Given the description of an element on the screen output the (x, y) to click on. 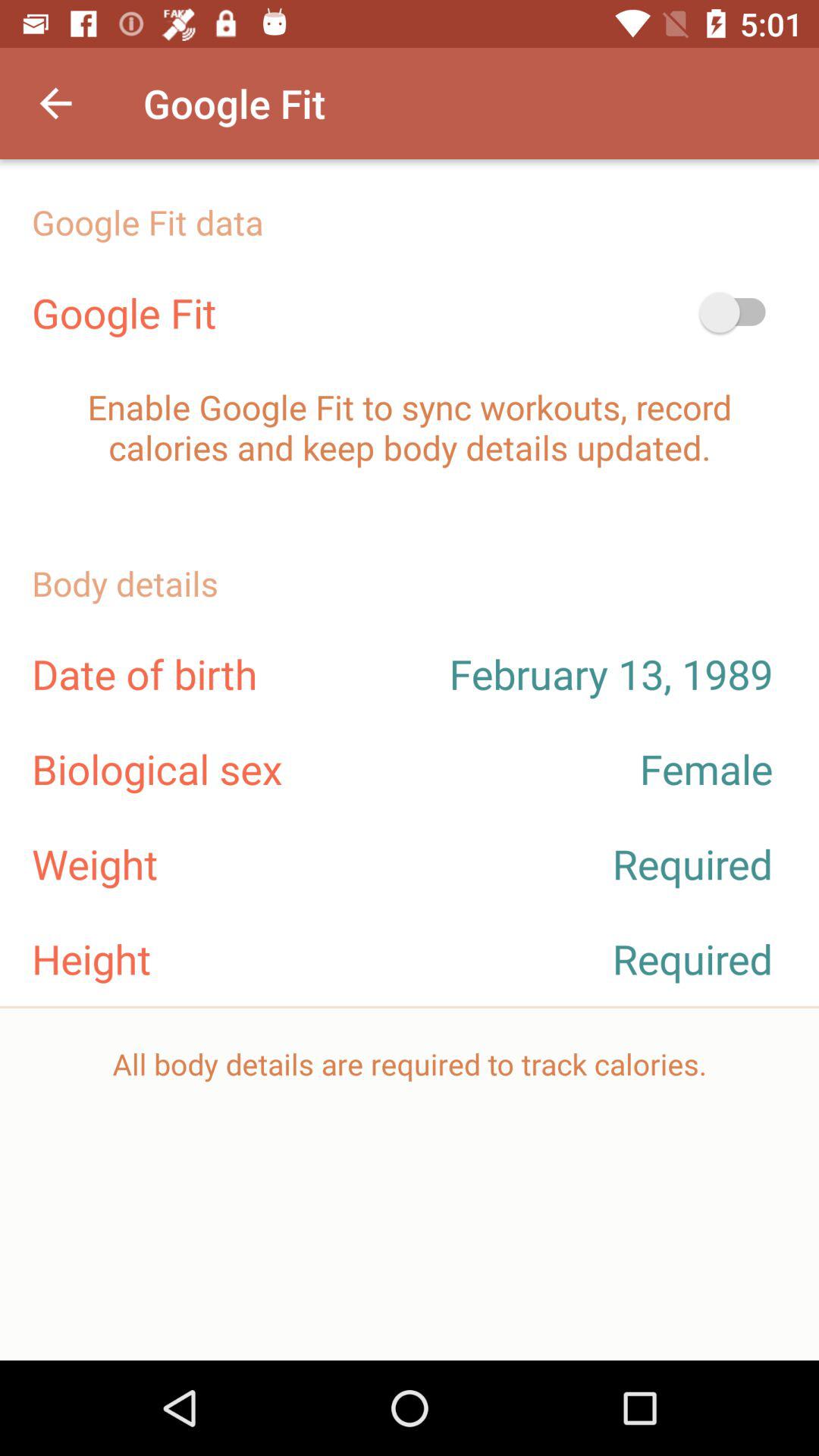
choose icon next to the google fit item (55, 103)
